Given the description of an element on the screen output the (x, y) to click on. 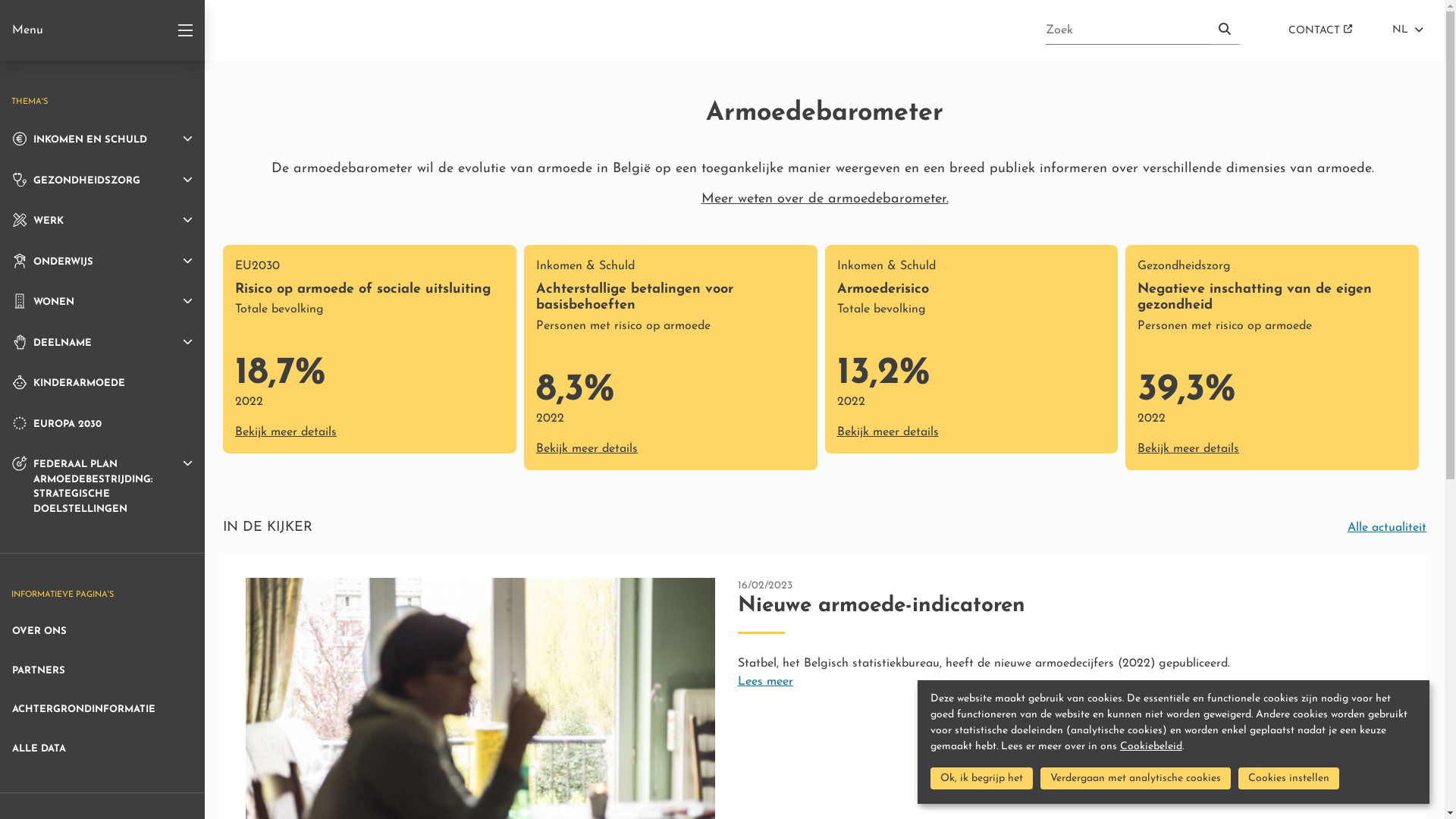
DEELNAME Element type: text (102, 342)
NL Element type: text (1407, 29)
Bekijk meer details
over Armoederisico Element type: text (887, 432)
ACHTERGRONDINFORMATIE Element type: text (102, 709)
WERK Element type: text (102, 220)
KINDERARMOEDE Element type: text (102, 382)
PARTNERS Element type: text (102, 670)
EUROPA 2030 Element type: text (102, 423)
ONDERWIJS Element type: text (102, 261)
OVER ONS Element type: text (102, 631)
Alle actualiteit Element type: text (1386, 527)
GEZONDHEIDSZORG Element type: text (102, 180)
Meer weten over de armoedebarometer. Element type: text (823, 198)
Verdergaan met analytische cookies Element type: text (1135, 778)
WONEN Element type: text (102, 301)
ALLE DATA Element type: text (102, 748)
Cookies instellen Element type: text (1288, 778)
Menu Element type: text (102, 30)
INKOMEN EN SCHULD Element type: text (102, 139)
CONTACT Element type: text (1320, 30)
Cookiebeleid Element type: text (1151, 746)
Zoek Element type: text (1224, 29)
Lees meer Element type: text (765, 681)
ARMOEDE CIJFERS Element type: text (90, 29)
Ok, ik begrijp het Element type: text (981, 778)
